Given the description of an element on the screen output the (x, y) to click on. 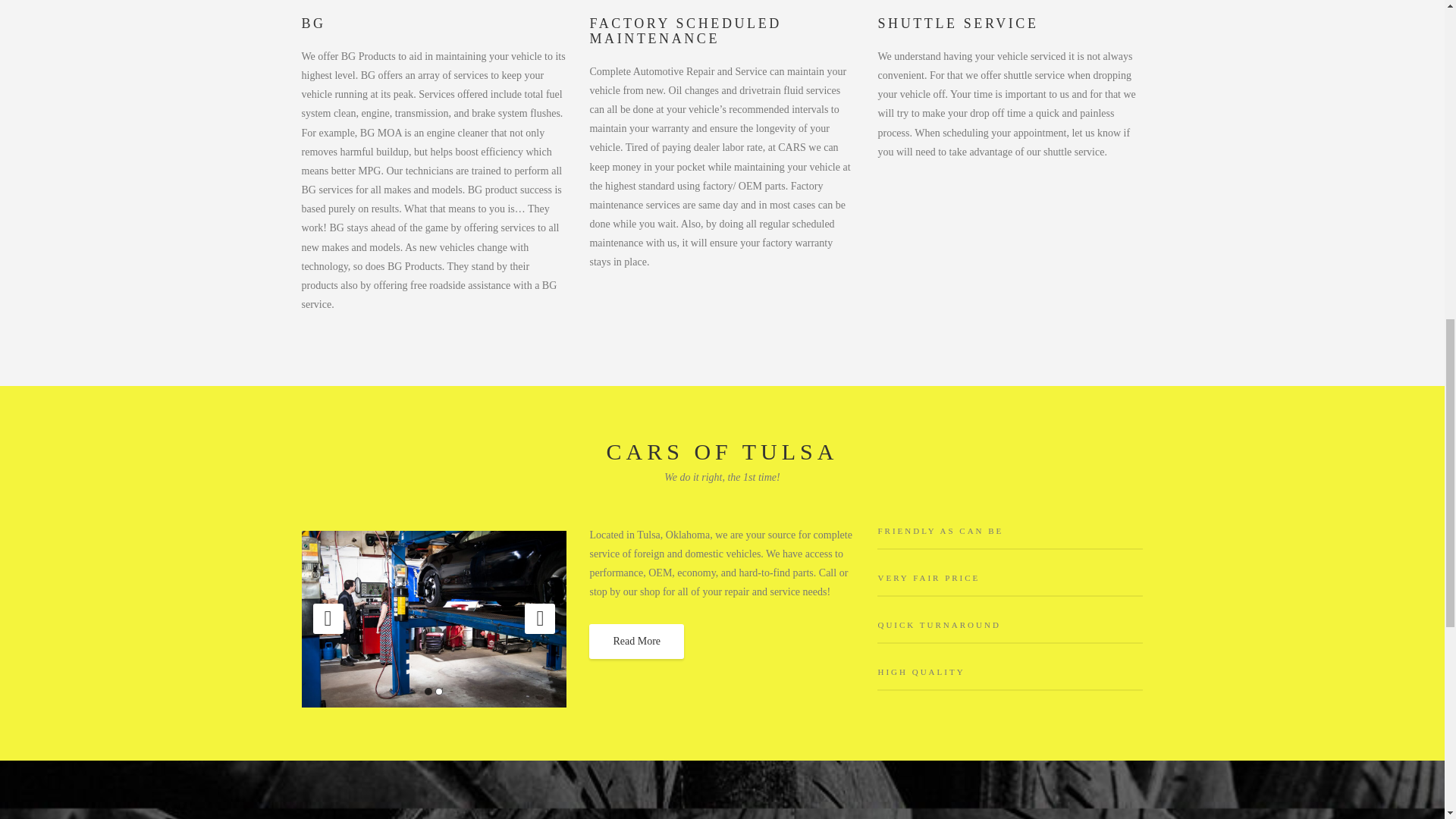
Next (539, 618)
1 (428, 691)
2 (438, 691)
Previous (327, 618)
Read More (636, 641)
